Given the description of an element on the screen output the (x, y) to click on. 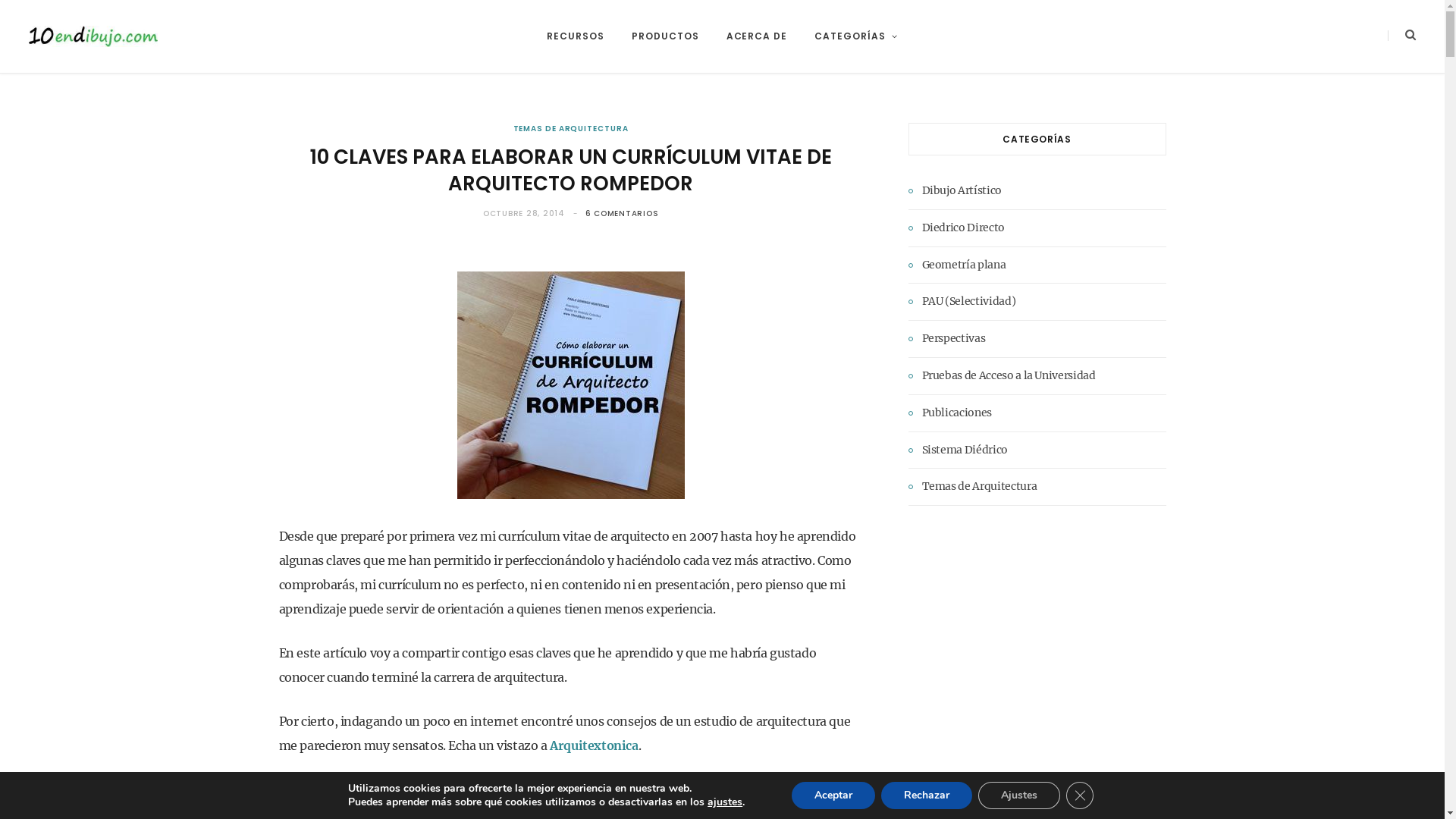
TEMAS DE ARQUITECTURA Element type: text (570, 128)
Publicaciones Element type: text (949, 413)
Arquitextonica Element type: text (593, 745)
Perspectivas Element type: text (946, 338)
Rechazar Element type: text (926, 795)
RECURSOS Element type: text (575, 36)
Aceptar Element type: text (833, 795)
curriculum arquitecto Element type: hover (570, 384)
Pruebas de Acceso a la Universidad Element type: text (1001, 376)
PRODUCTOS Element type: text (665, 36)
CERRAR EL BANNER DE COOKIES RGPD Element type: text (1079, 795)
10 en dibujo Element type: hover (92, 36)
OCTUBRE 28, 2014 Element type: text (525, 213)
ACERCA DE Element type: text (756, 36)
Ajustes Element type: text (1019, 795)
PAU (Selectividad) Element type: text (962, 301)
6 COMENTARIOS Element type: text (621, 213)
ajustes Element type: text (724, 802)
Temas de Arquitectura Element type: text (972, 486)
Diedrico Directo Element type: text (956, 228)
